Given the description of an element on the screen output the (x, y) to click on. 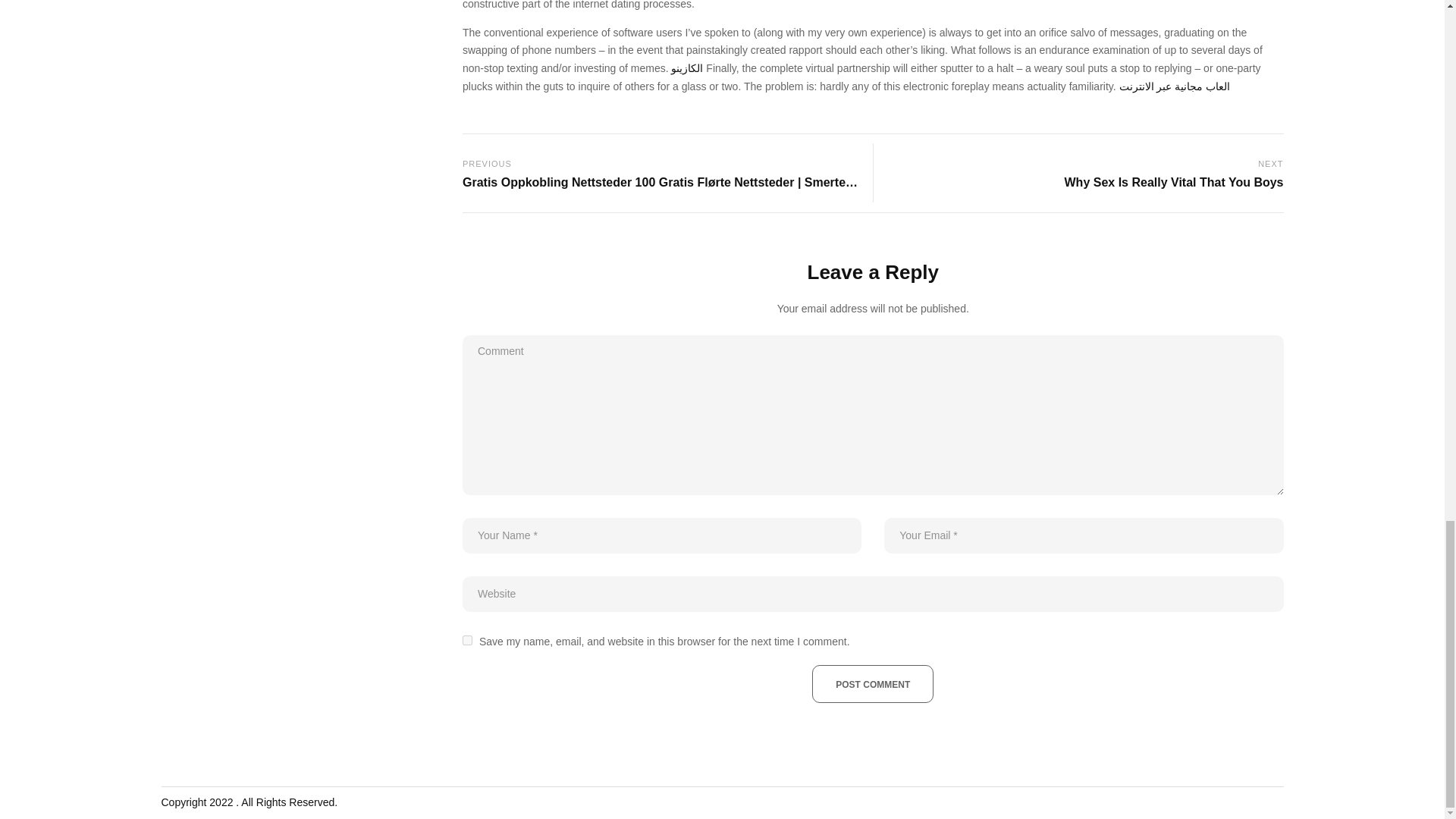
yes (467, 640)
Post Comment (872, 683)
Post Comment (1082, 173)
